Given the description of an element on the screen output the (x, y) to click on. 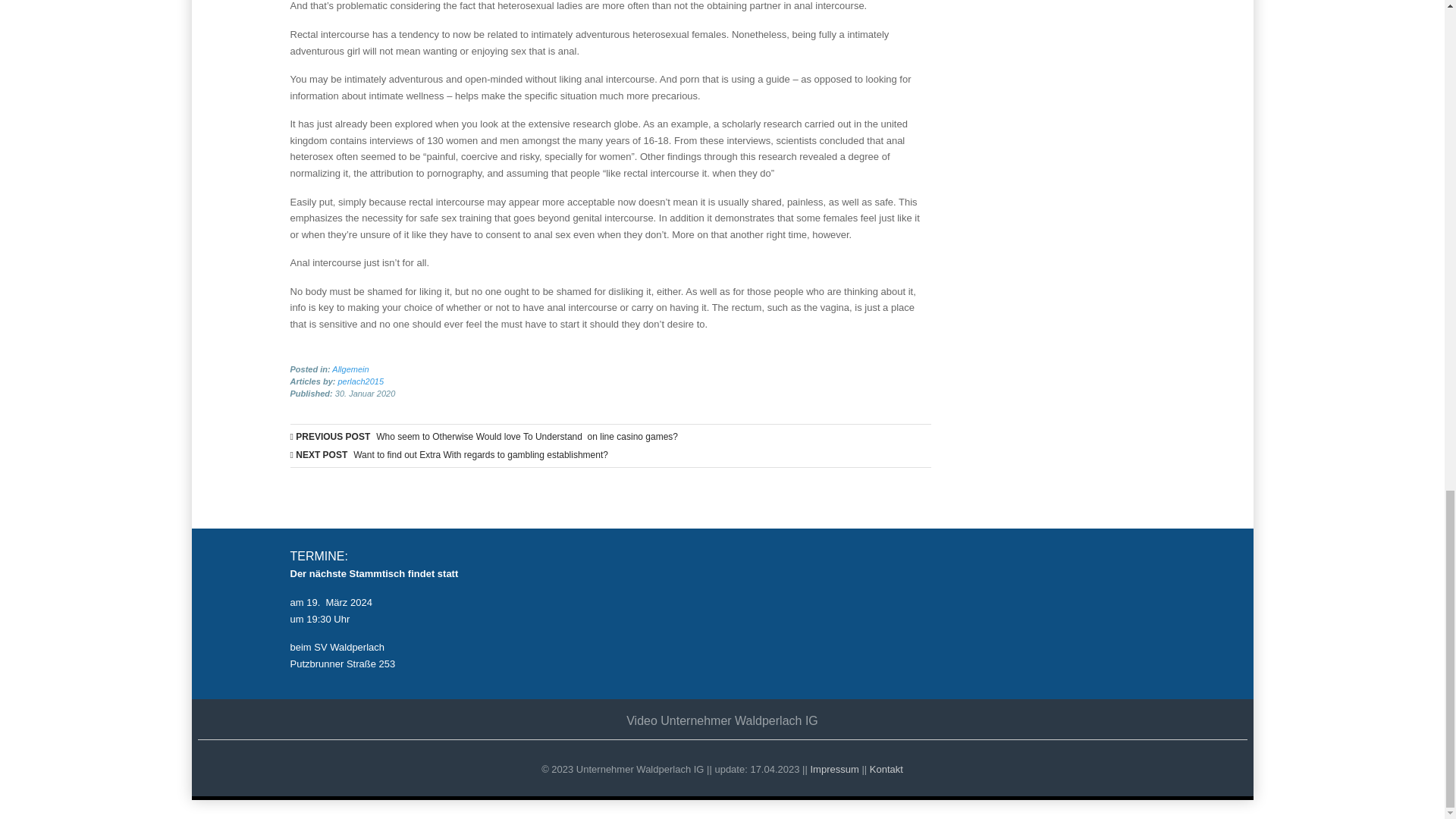
Kontakt (885, 768)
Allgemein (349, 368)
perlach2015 (360, 380)
Impressum (834, 768)
perlach2015 (360, 380)
